Given the description of an element on the screen output the (x, y) to click on. 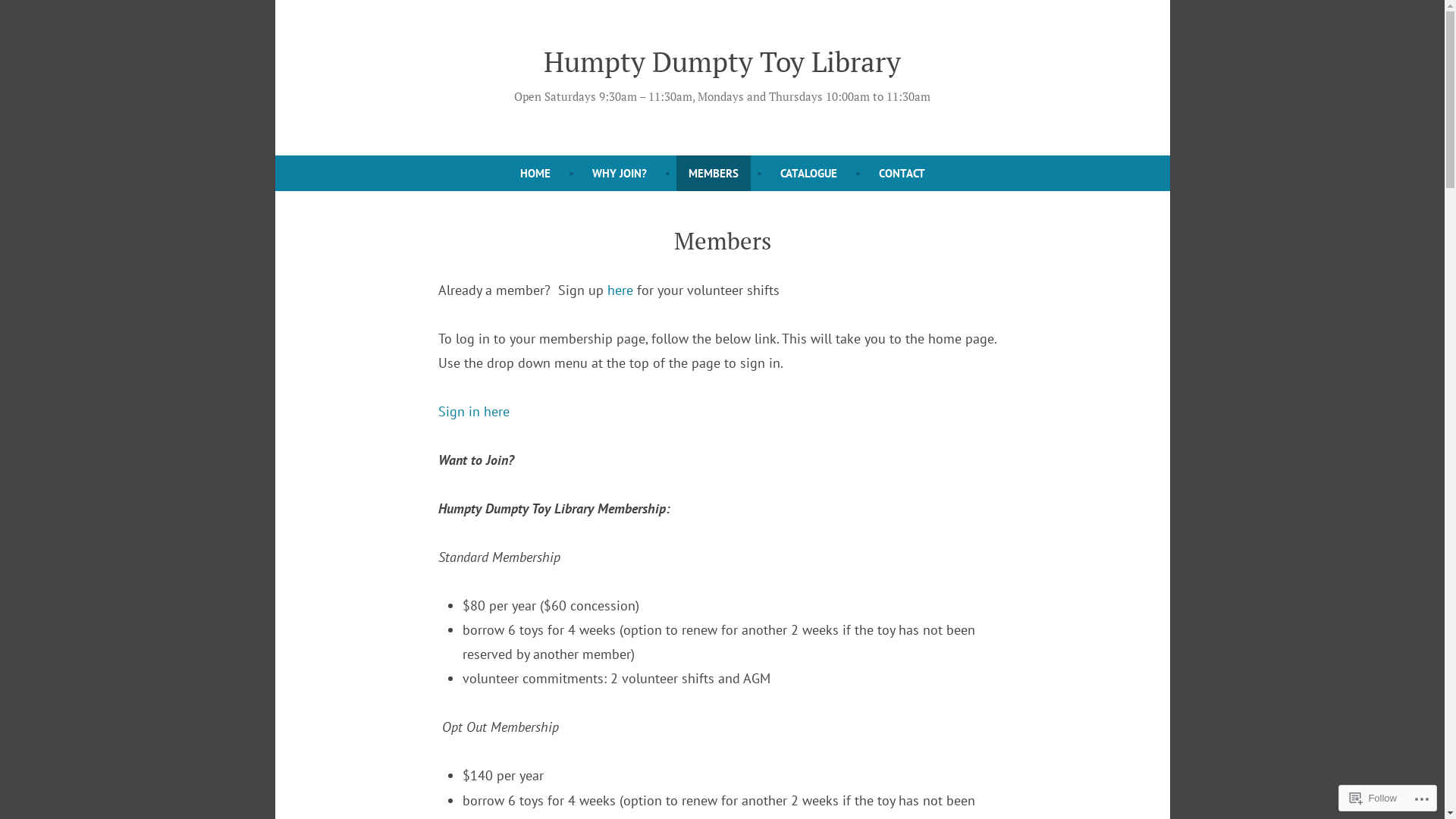
here Element type: text (619, 289)
Follow Element type: text (1372, 797)
CATALOGUE Element type: text (807, 173)
Sign in here Element type: text (473, 411)
Humpty Dumpty Toy Library Element type: text (721, 61)
MEMBERS Element type: text (713, 173)
HOME Element type: text (535, 173)
CONTACT Element type: text (901, 173)
WHY JOIN? Element type: text (618, 173)
